Given the description of an element on the screen output the (x, y) to click on. 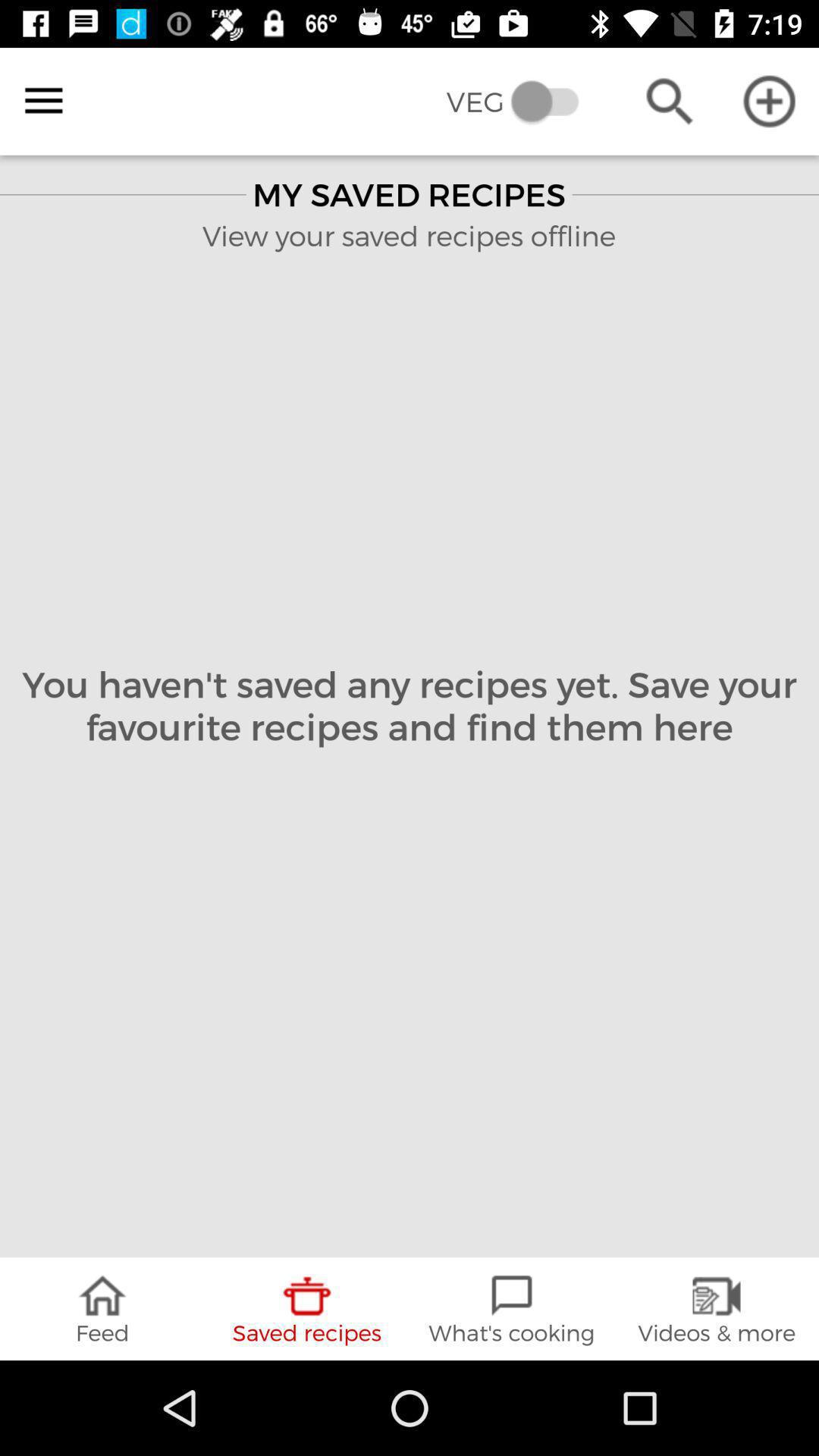
turn off item to the right of the what's cooking item (716, 1308)
